Given the description of an element on the screen output the (x, y) to click on. 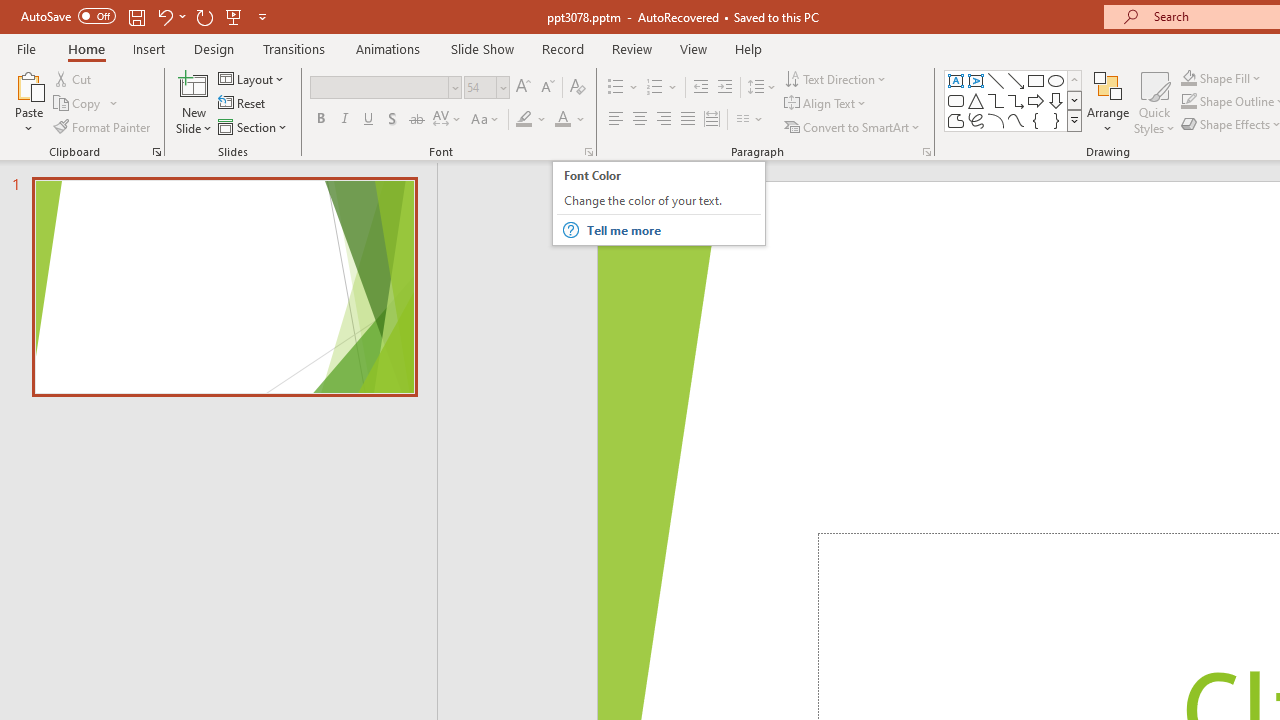
Font Color (658, 203)
Numbering (569, 119)
Undo (654, 87)
Justify (164, 15)
Undo (687, 119)
Row Down (170, 15)
From Beginning (1074, 100)
Copy (234, 15)
Shadow (78, 103)
More Options (392, 119)
Shapes (1232, 78)
Shape Outline Green, Accent 1 (1074, 120)
Distributed (1188, 101)
Arrange (712, 119)
